Given the description of an element on the screen output the (x, y) to click on. 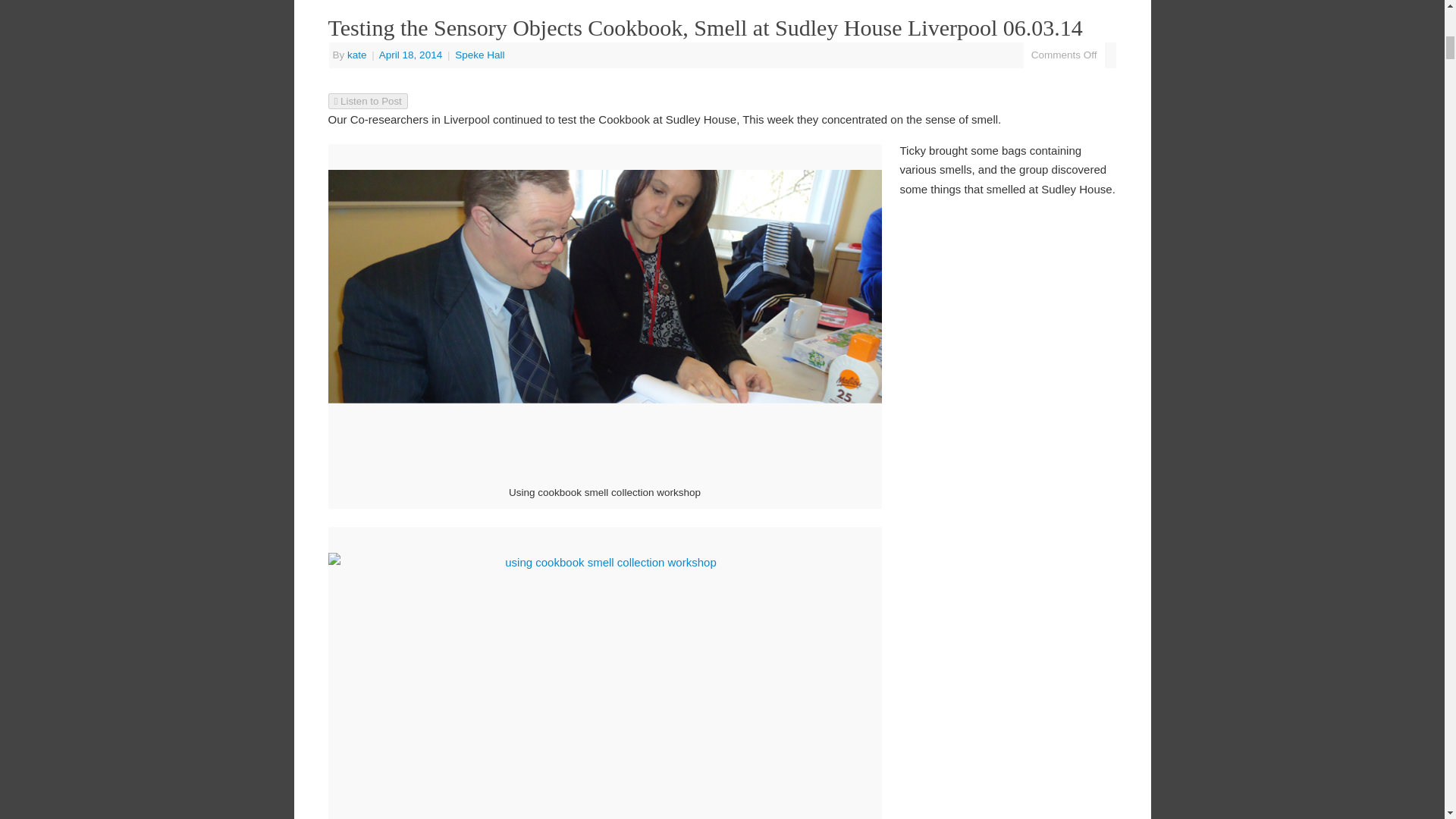
7:00 pm (411, 54)
kate (356, 54)
View all posts by kate (356, 54)
April 18, 2014 (411, 54)
Speke Hall (478, 54)
